Given the description of an element on the screen output the (x, y) to click on. 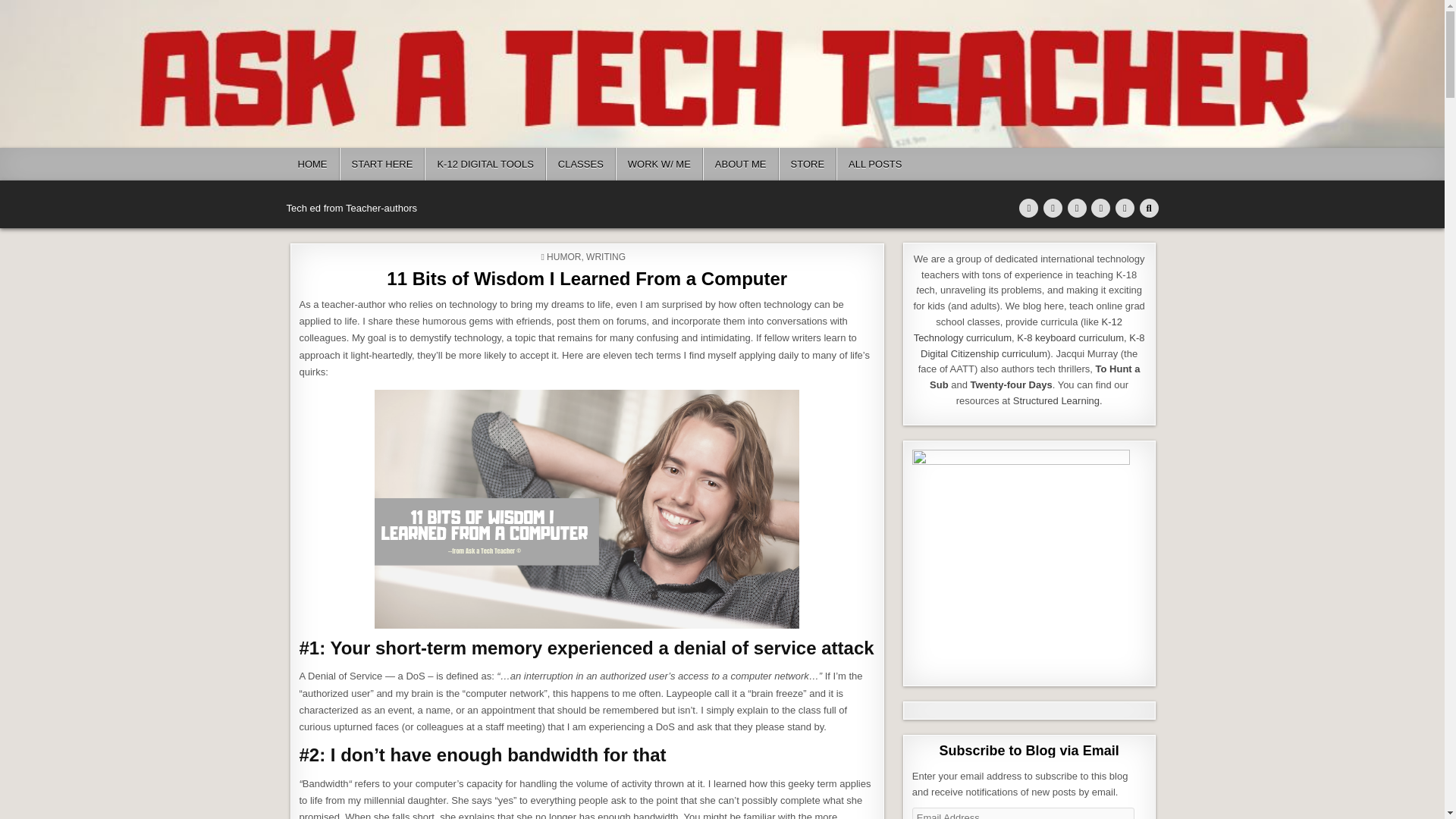
HOME (312, 164)
K-12 DIGITAL TOOLS (484, 164)
START HERE (382, 164)
